Given the description of an element on the screen output the (x, y) to click on. 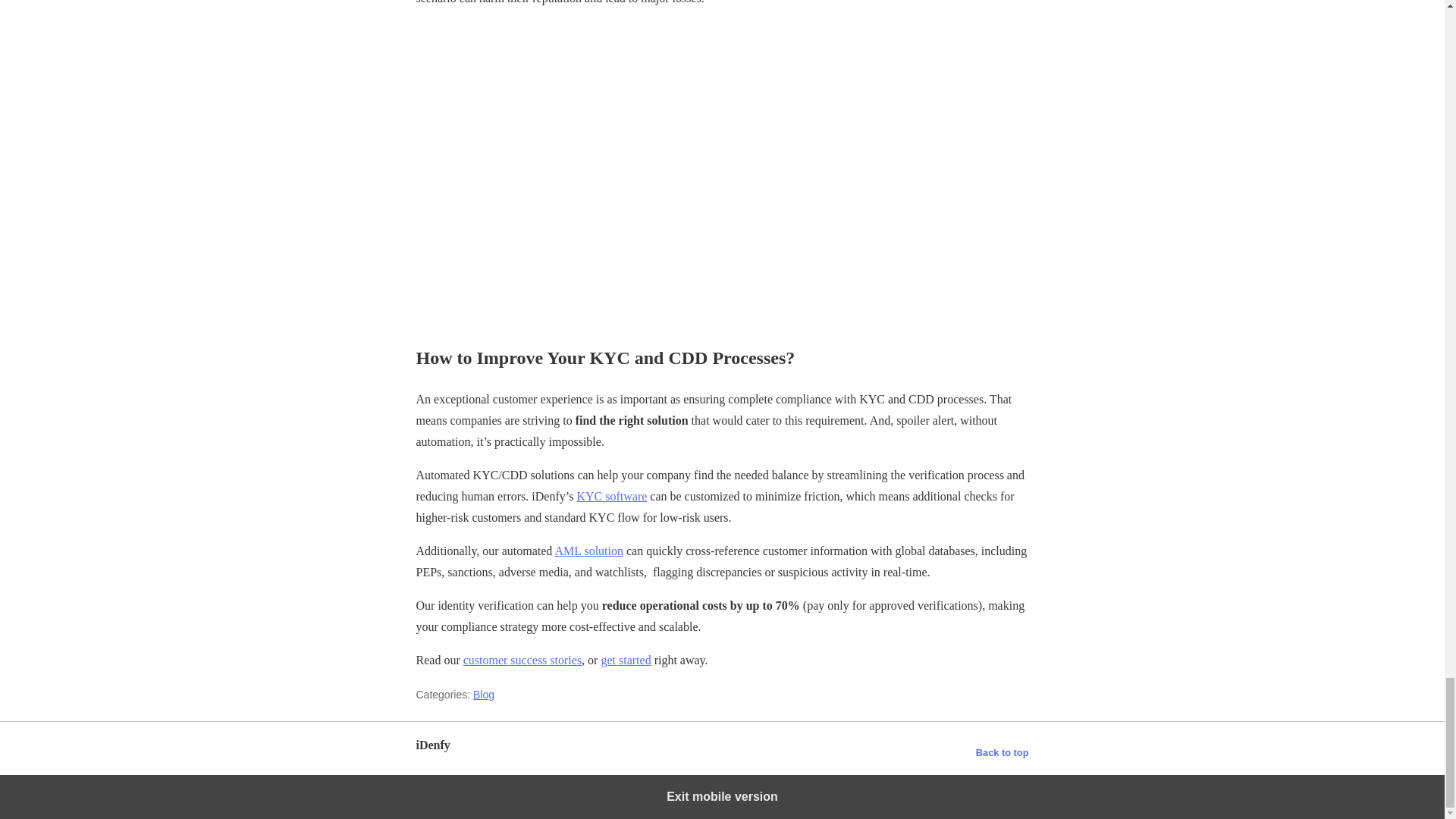
get started (624, 659)
Blog (484, 694)
KYC software (611, 495)
Back to top (1002, 752)
AML solution (588, 550)
customer success stories (521, 659)
